Given the description of an element on the screen output the (x, y) to click on. 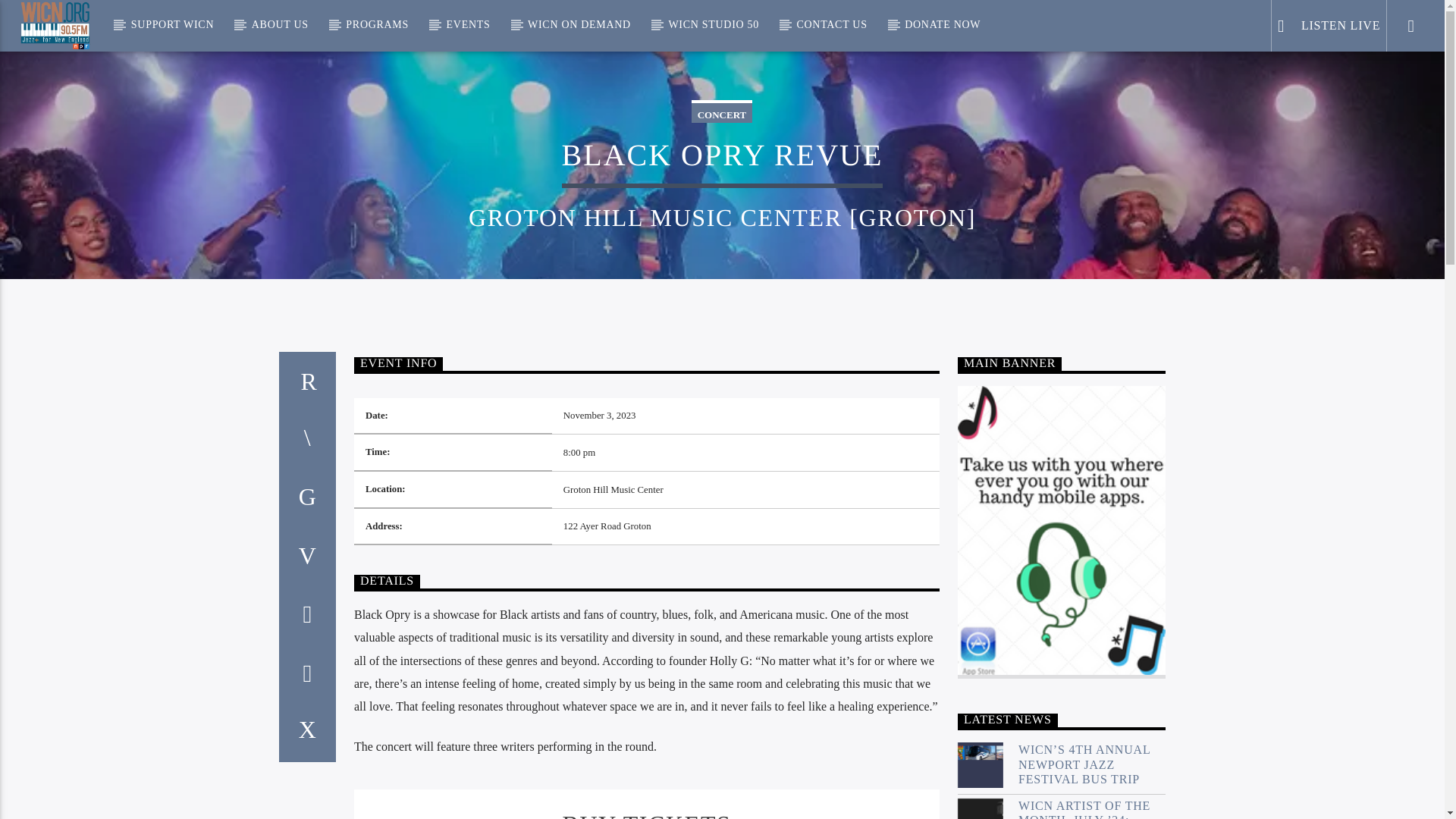
WICN STUDIO 50 (713, 24)
SUPPORT WICN (171, 24)
WICN ON DEMAND (579, 24)
DONATE NOW (942, 24)
LISTEN LIVE (1328, 25)
PROGRAMS (377, 24)
CONTACT US (830, 24)
ABOUT US (279, 24)
EVENTS (467, 24)
